Given the description of an element on the screen output the (x, y) to click on. 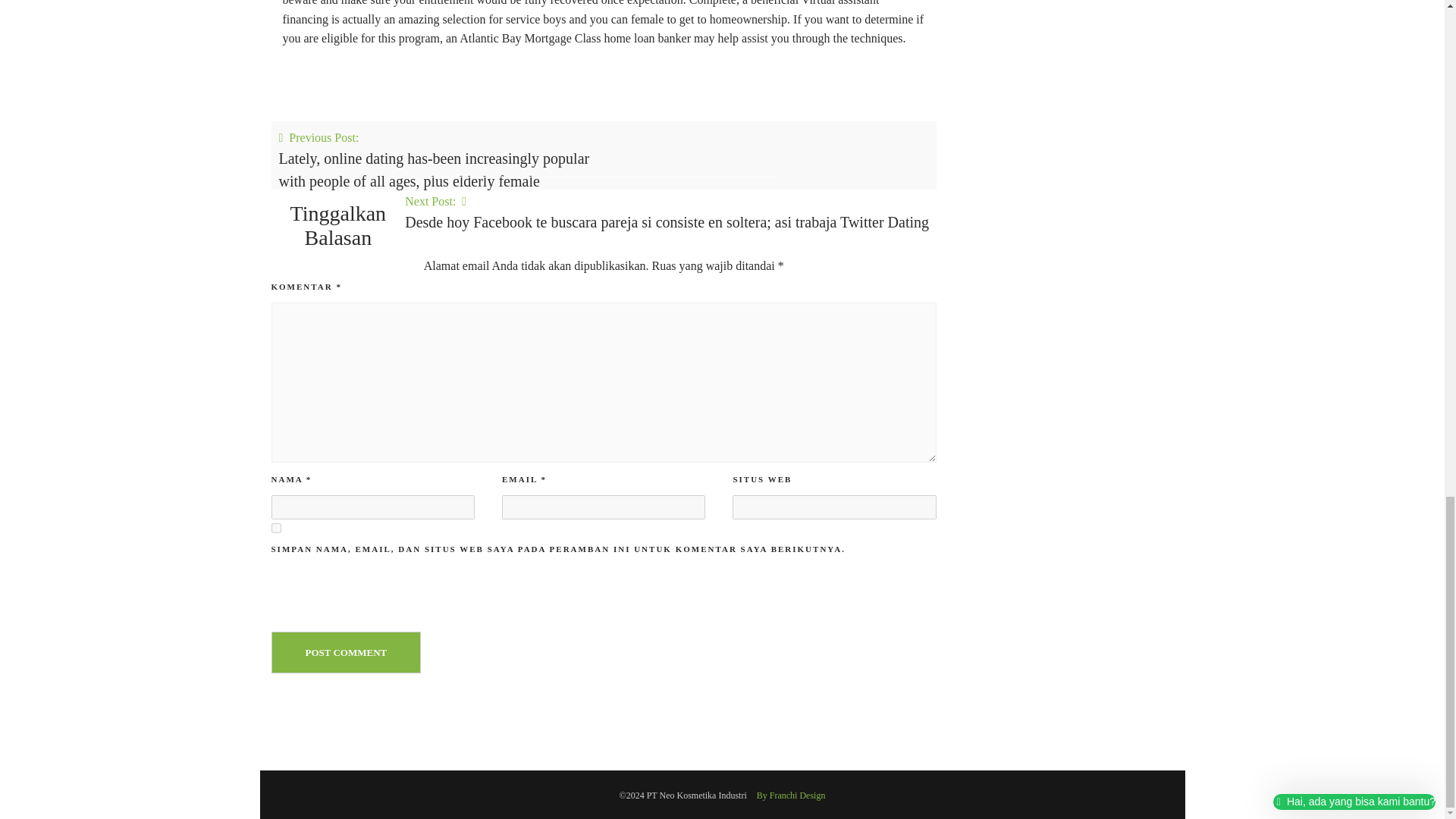
By Franchi Design (791, 795)
POST COMMENT (346, 652)
yes (275, 528)
